Given the description of an element on the screen output the (x, y) to click on. 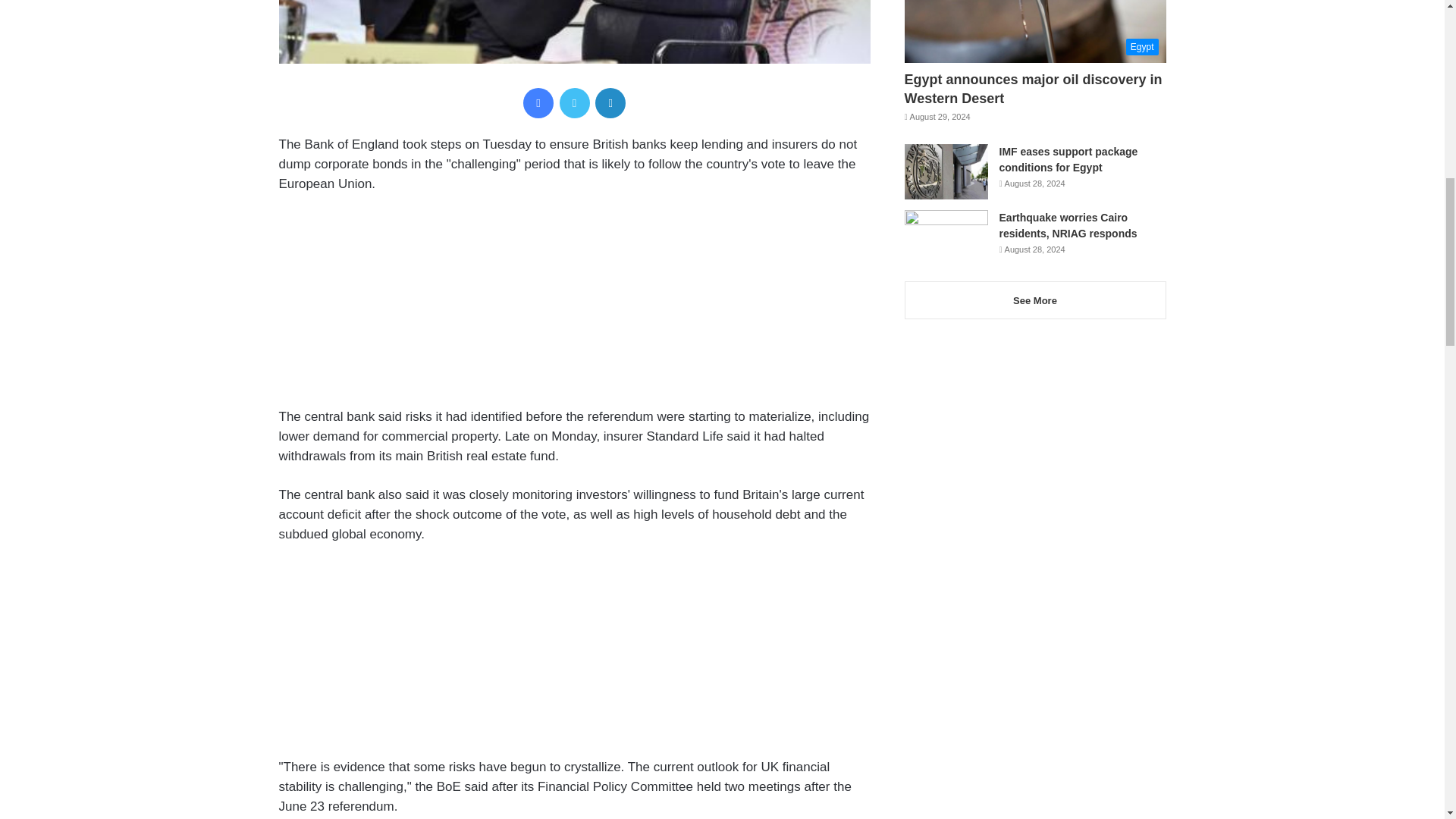
Twitter (574, 102)
LinkedIn (610, 102)
Twitter (574, 102)
Facebook (537, 102)
LinkedIn (610, 102)
Facebook (537, 102)
